Given the description of an element on the screen output the (x, y) to click on. 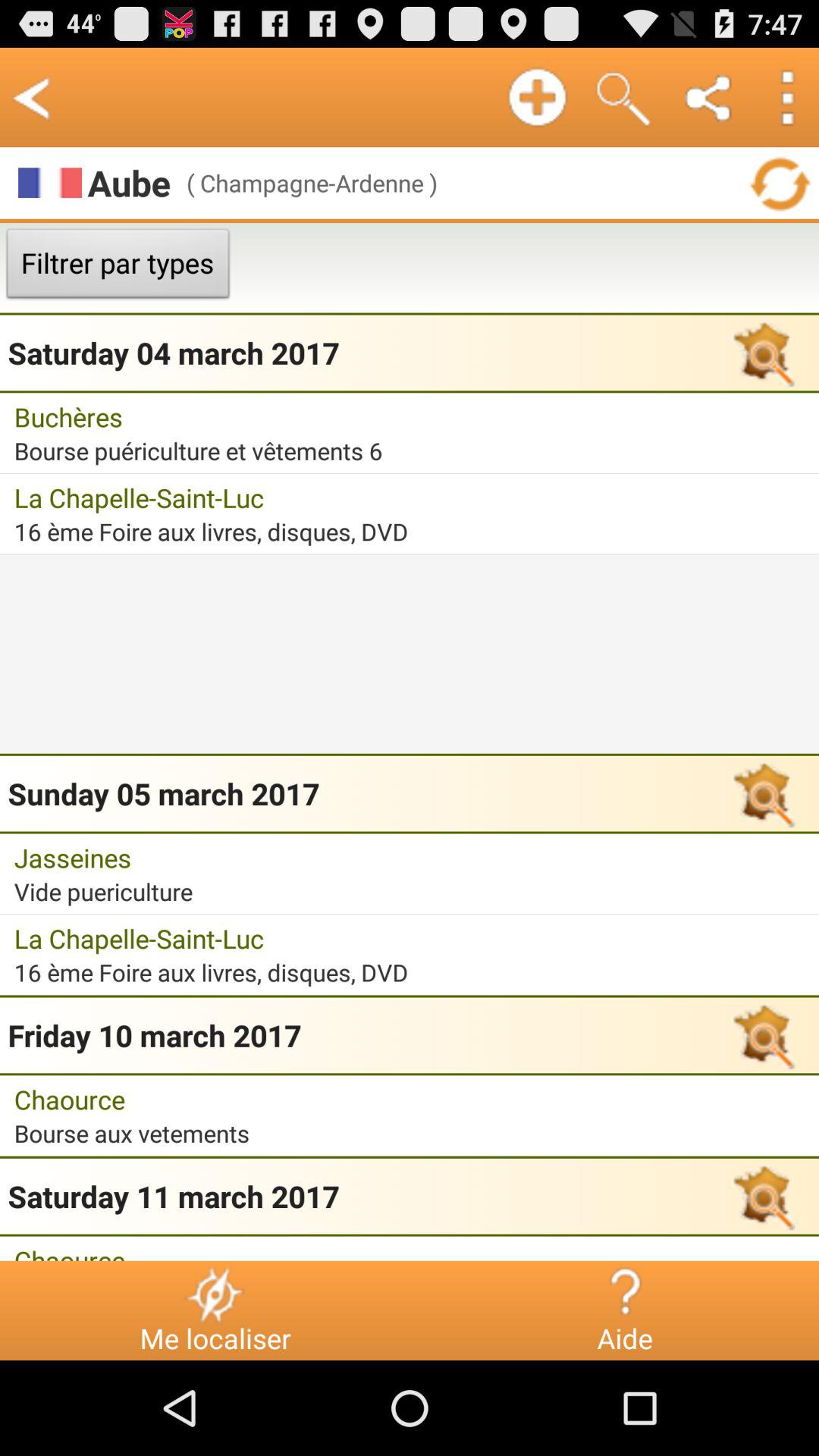
tap the icon to the right of me localiser icon (624, 1293)
